Given the description of an element on the screen output the (x, y) to click on. 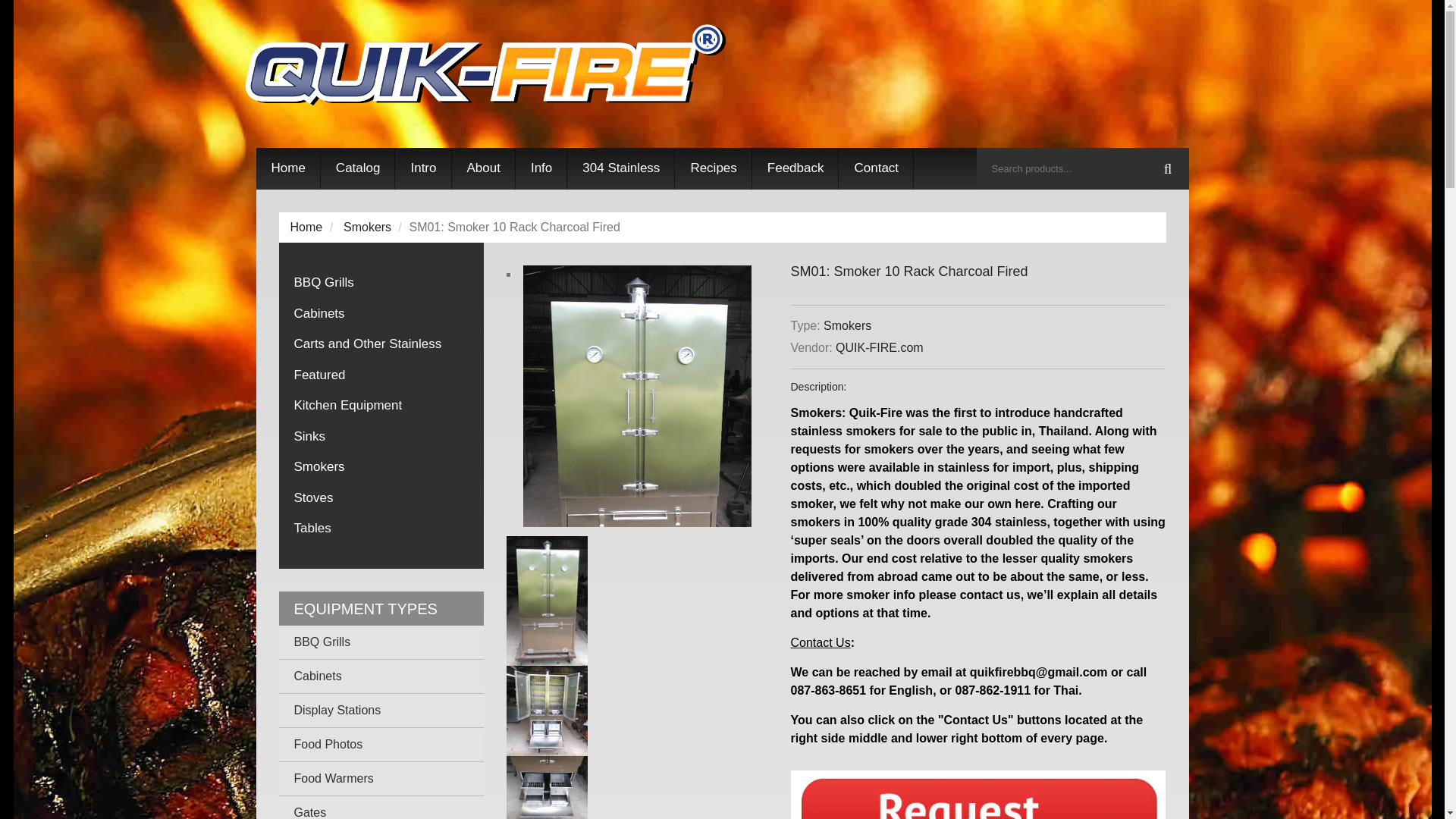
Carts and Other Stainless (381, 343)
BBQ Grills (381, 282)
Back to the frontpage (305, 226)
Recipes (713, 168)
Cabinets (381, 312)
QUIK-FIRE.com (879, 347)
Cabinets (381, 312)
About (483, 168)
304 Stainless (621, 168)
Smokers (847, 325)
BBQ Grills (381, 282)
Catalog (358, 168)
Featured (381, 374)
Smokers (367, 226)
Info (541, 168)
